Given the description of an element on the screen output the (x, y) to click on. 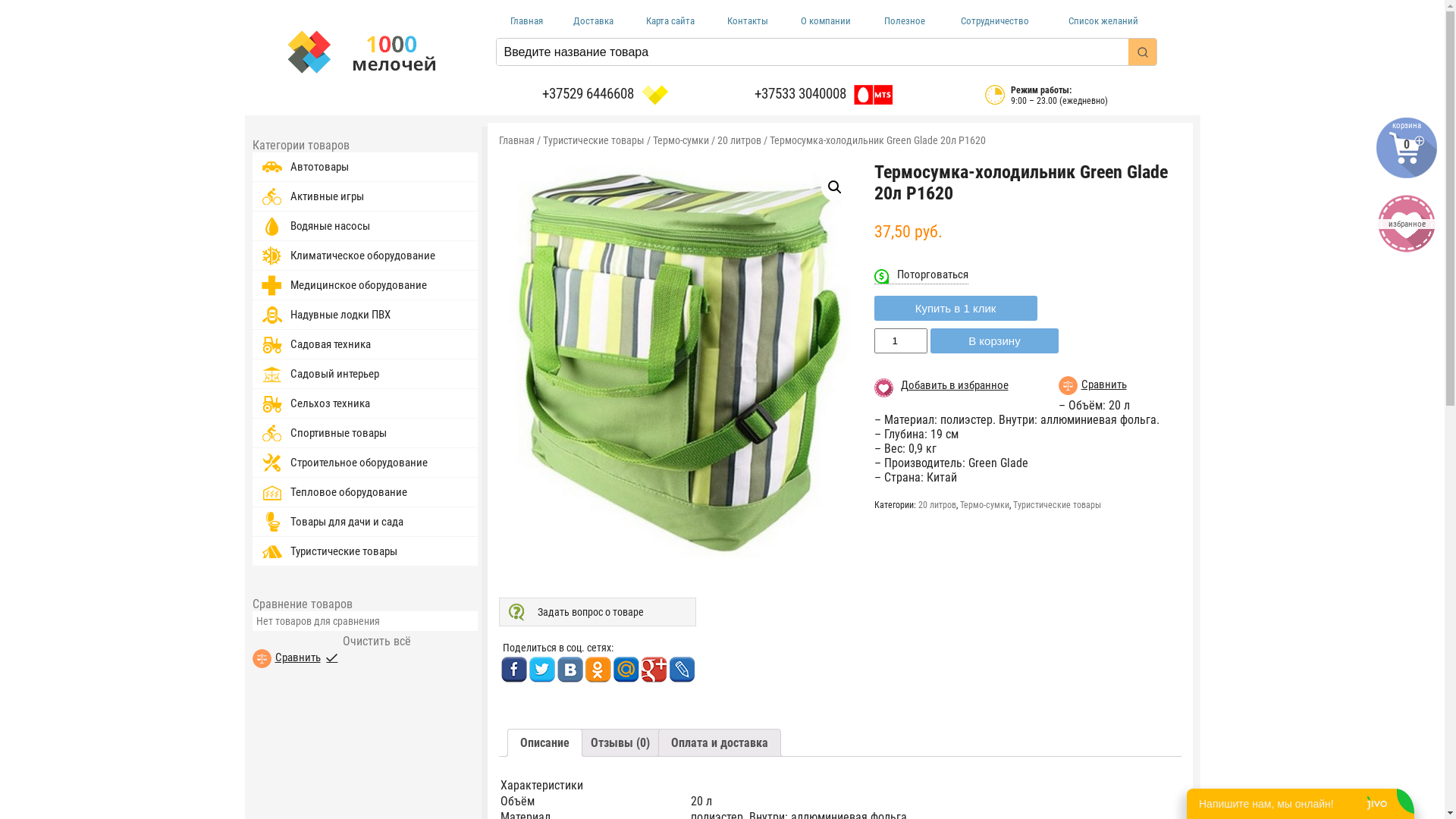
Twitter Element type: text (540, 669)
Facebook Element type: text (513, 669)
Mail.ru Element type: text (625, 669)
Livejournal Element type: text (681, 669)
Google+ Element type: text (653, 669)
